Given the description of an element on the screen output the (x, y) to click on. 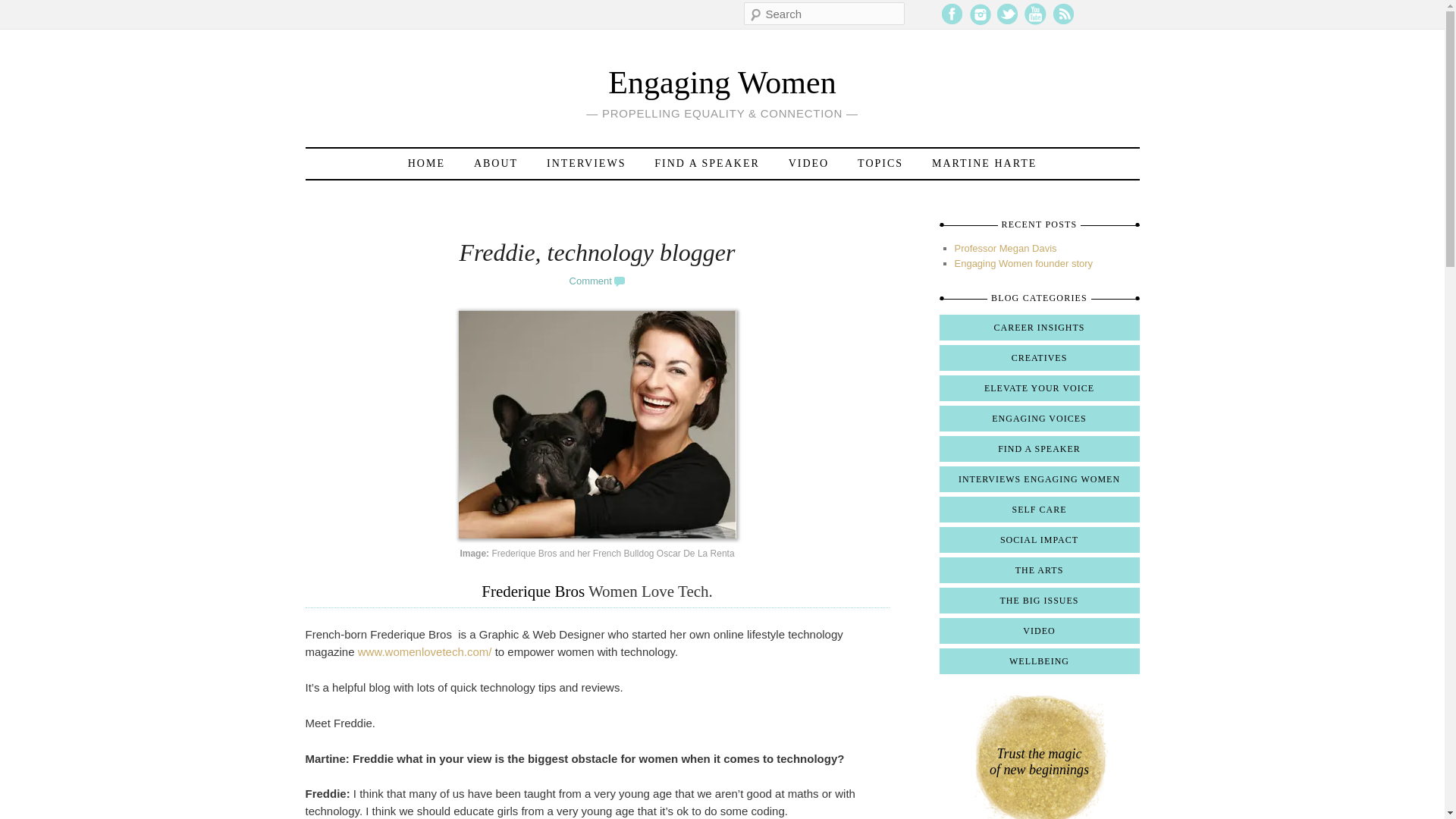
Engaging Women (721, 82)
MARTINE HARTE (984, 163)
TOPICS (880, 163)
Skip to content (346, 163)
Engaging Women (721, 82)
Skip to content (346, 163)
INTERVIEWS (585, 163)
ABOUT (495, 163)
HOME (426, 163)
Follow on Twitter (1007, 21)
Comment (597, 280)
FIND A SPEAKER (706, 163)
Follow on You Tube (1034, 21)
Search (21, 7)
Follow on Instagram (979, 21)
